Given the description of an element on the screen output the (x, y) to click on. 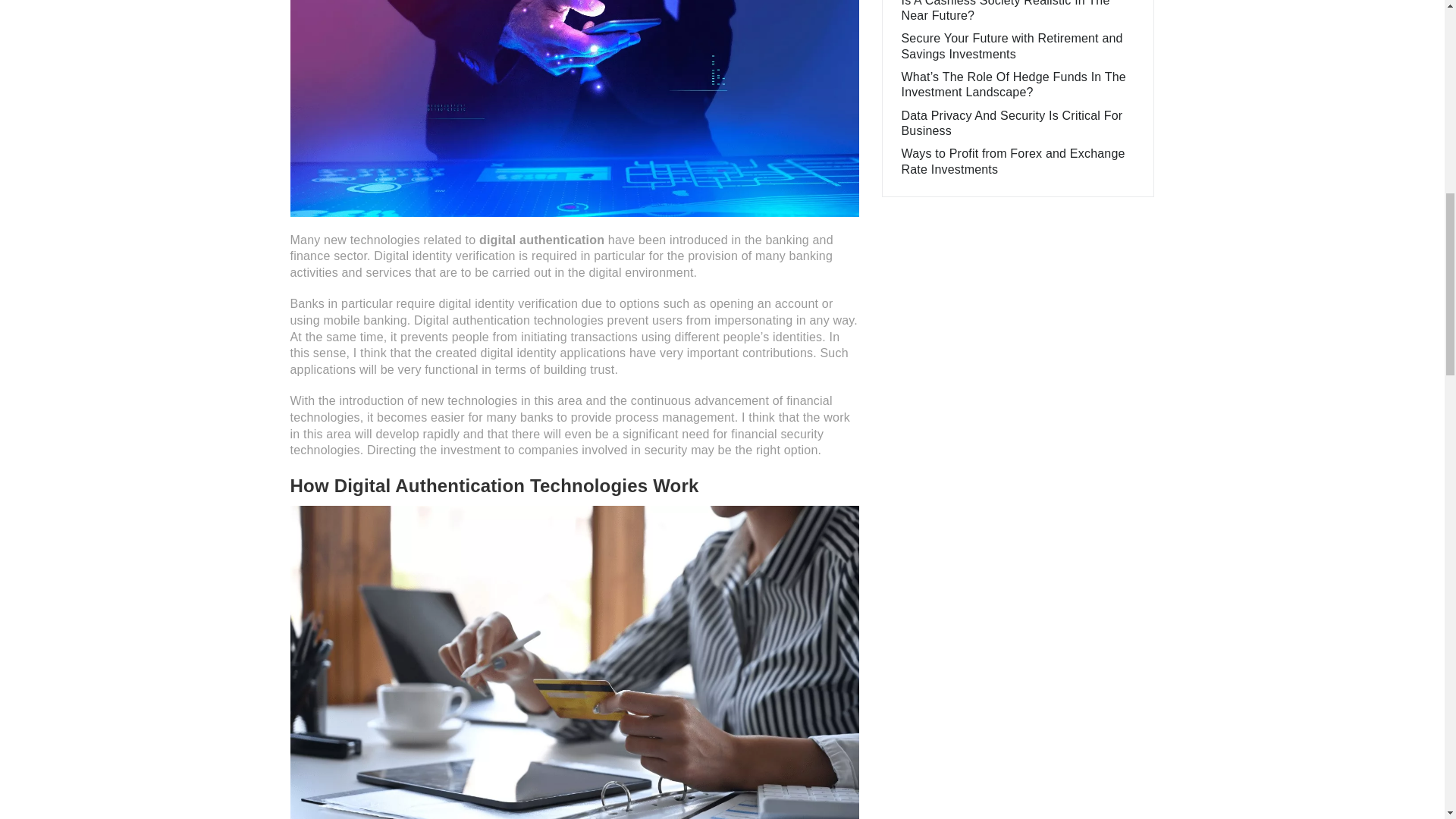
Secure Your Future with Retirement and Savings Investments (1011, 45)
Is A Cashless Society Realistic In The Near Future? (1005, 11)
Ways to Profit from Forex and Exchange Rate Investments (1012, 161)
Data Privacy And Security Is Critical For Business (1011, 122)
